Given the description of an element on the screen output the (x, y) to click on. 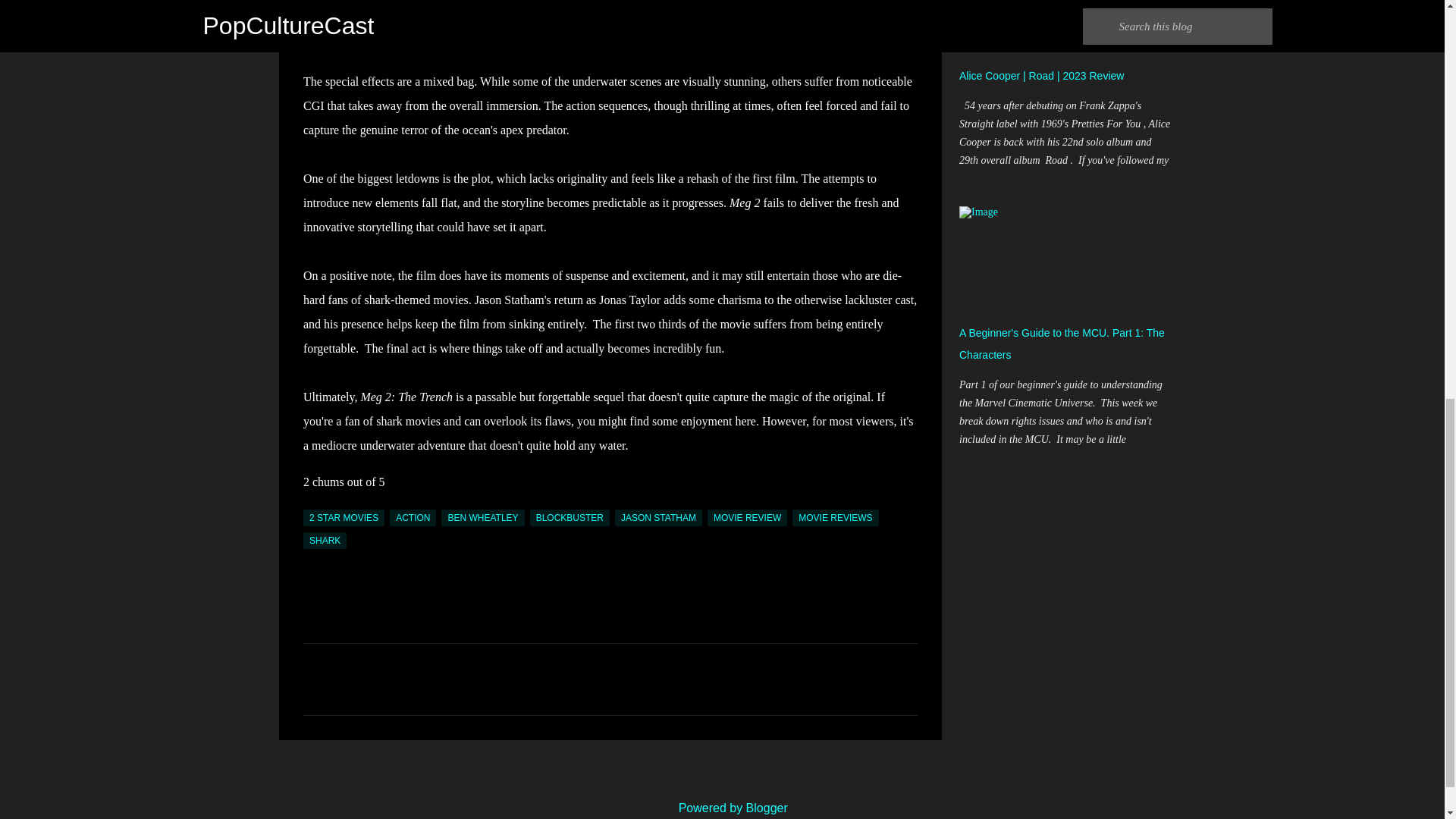
Powered by Blogger (721, 807)
BLOCKBUSTER (569, 517)
BEN WHEATLEY (482, 517)
SHARK (324, 540)
MOVIE REVIEWS (834, 517)
MOVIE REVIEW (747, 517)
2 STAR MOVIES (343, 517)
ACTION (412, 517)
JASON STATHAM (657, 517)
A Beginner's Guide to the MCU. Part 1: The Characters (1061, 343)
